Given the description of an element on the screen output the (x, y) to click on. 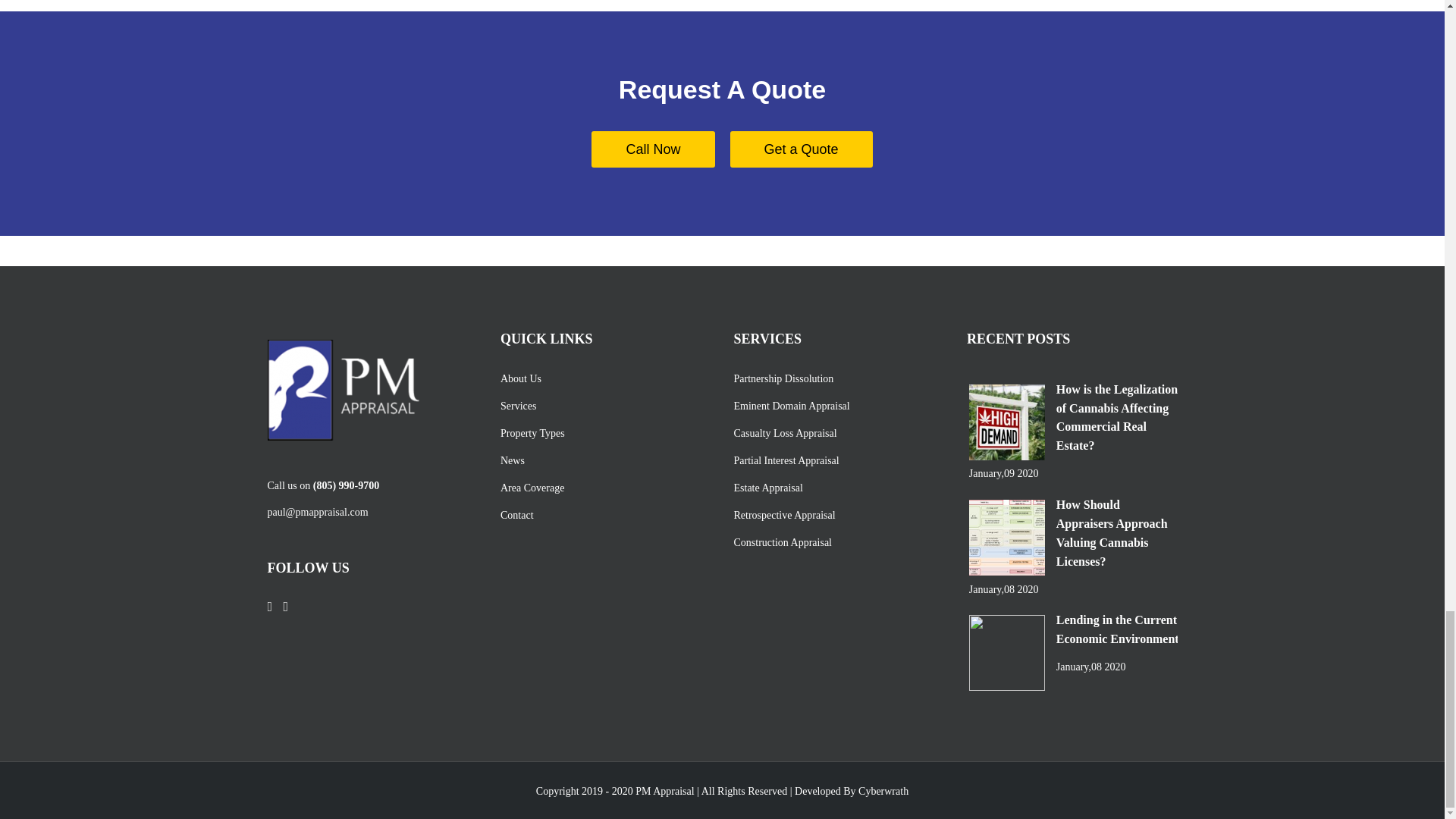
Services (601, 406)
Construction Appraisal (835, 542)
Estate Appraisal (835, 487)
Casualty Loss Appraisal (835, 433)
Retrospective Appraisal (835, 514)
Eminent Domain Appraisal (835, 406)
Call Now (652, 149)
Get a Quote (800, 149)
Property Types (601, 433)
Partial Interest Appraisal (835, 460)
